Given the description of an element on the screen output the (x, y) to click on. 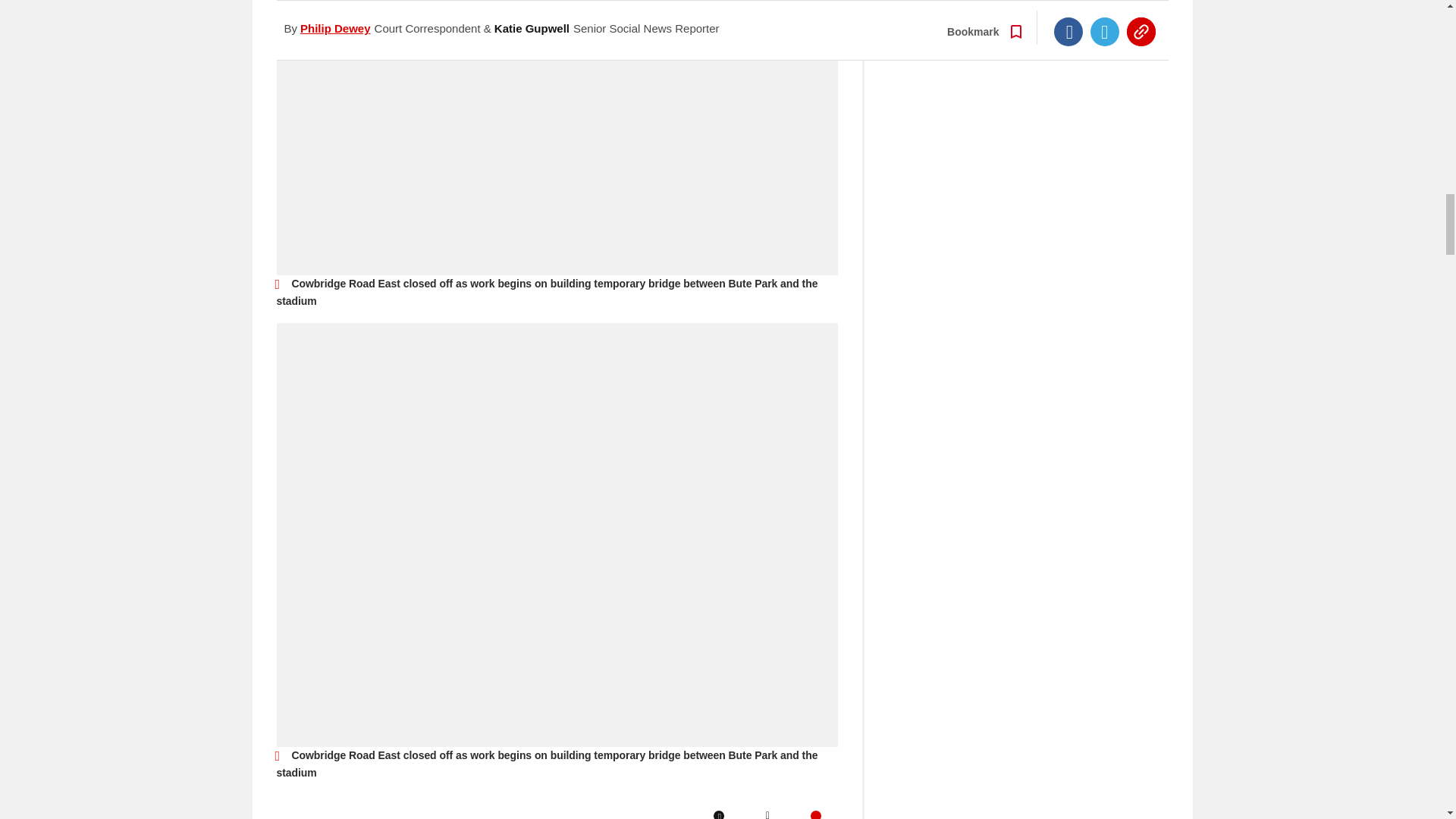
Twitter (767, 814)
Facebook (718, 814)
